Given the description of an element on the screen output the (x, y) to click on. 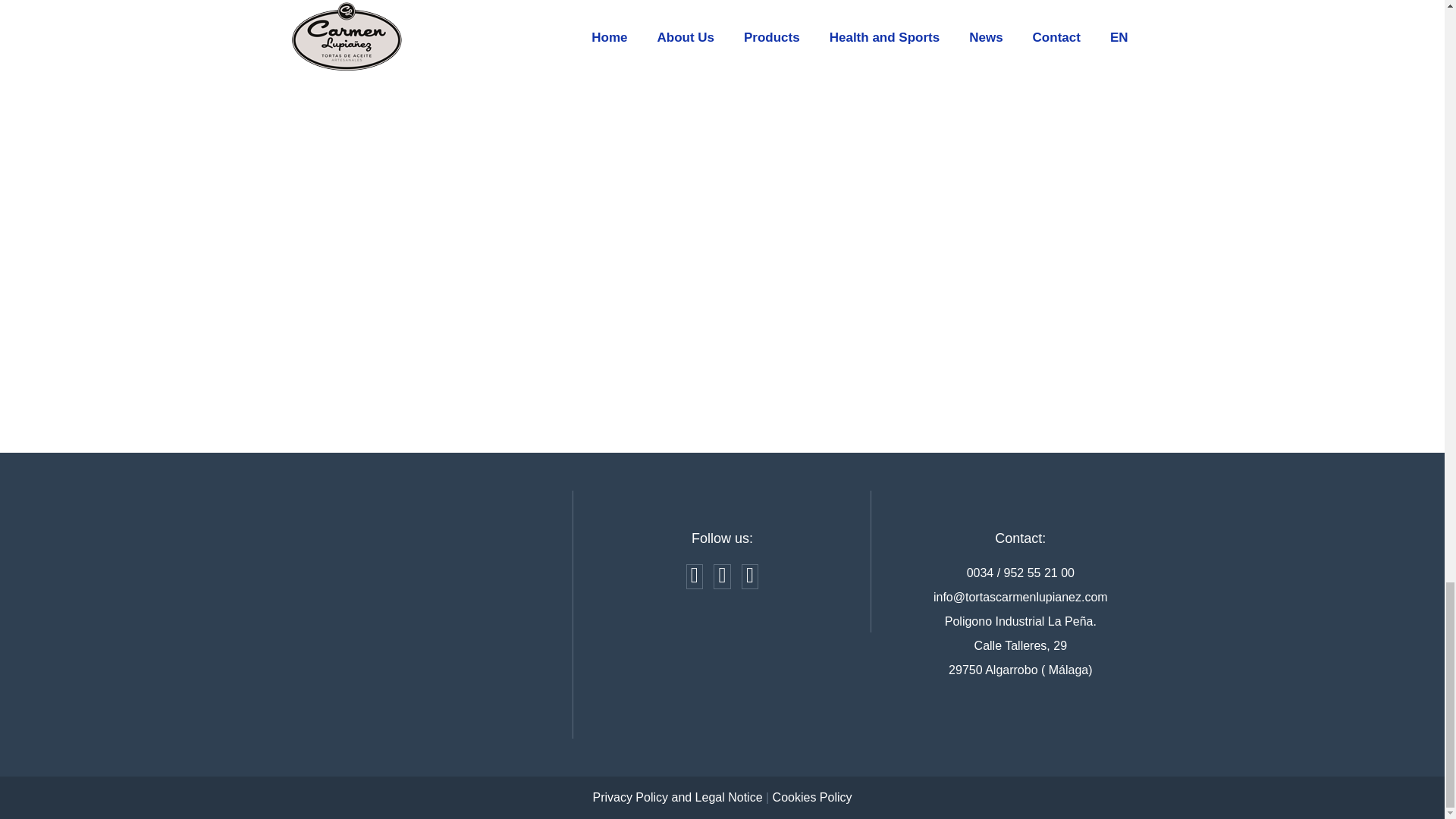
Privacy Policy and Legal Notice (676, 797)
Cookies Policy (812, 797)
